Given the description of an element on the screen output the (x, y) to click on. 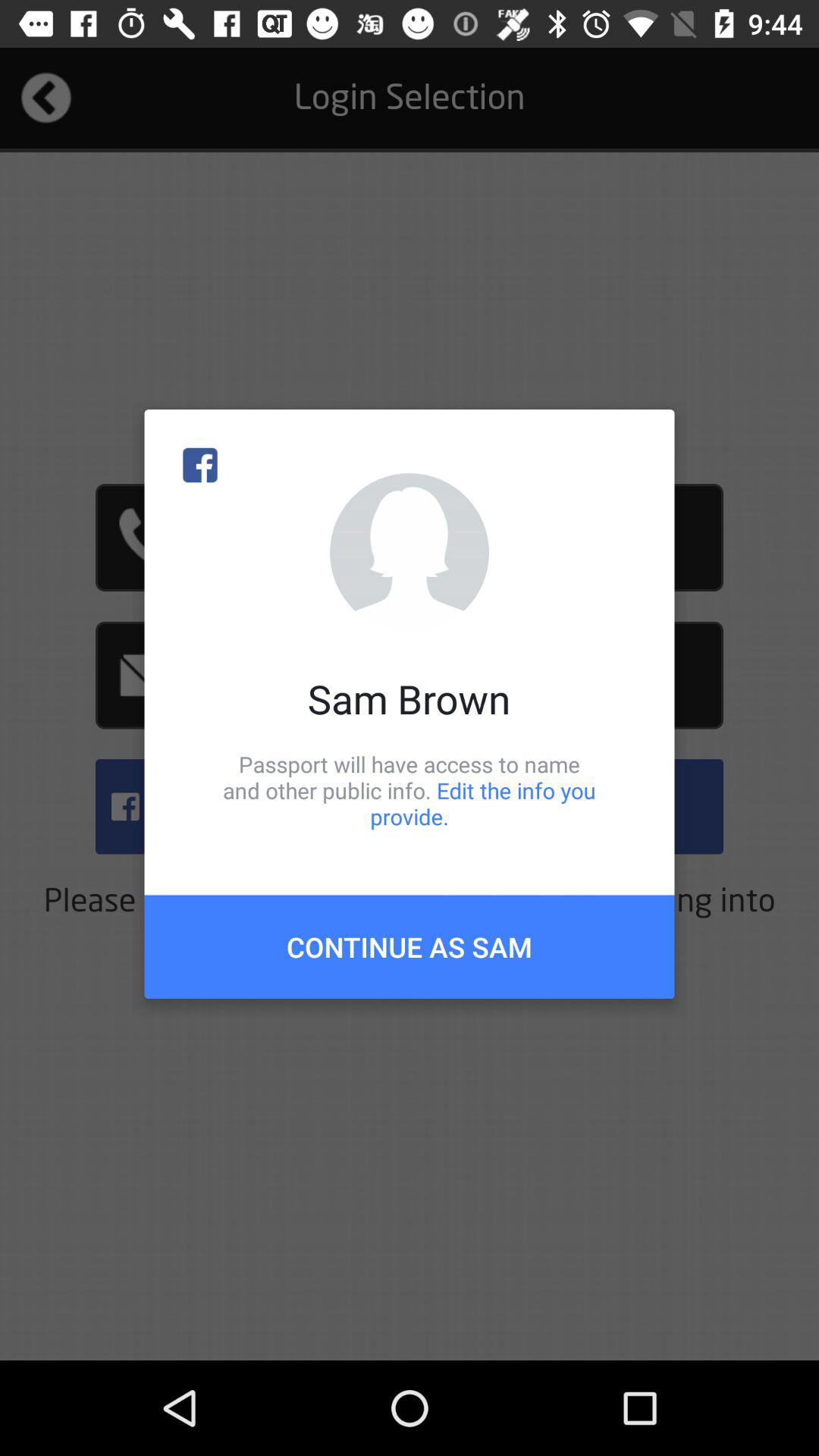
turn on the icon below the passport will have icon (409, 946)
